Given the description of an element on the screen output the (x, y) to click on. 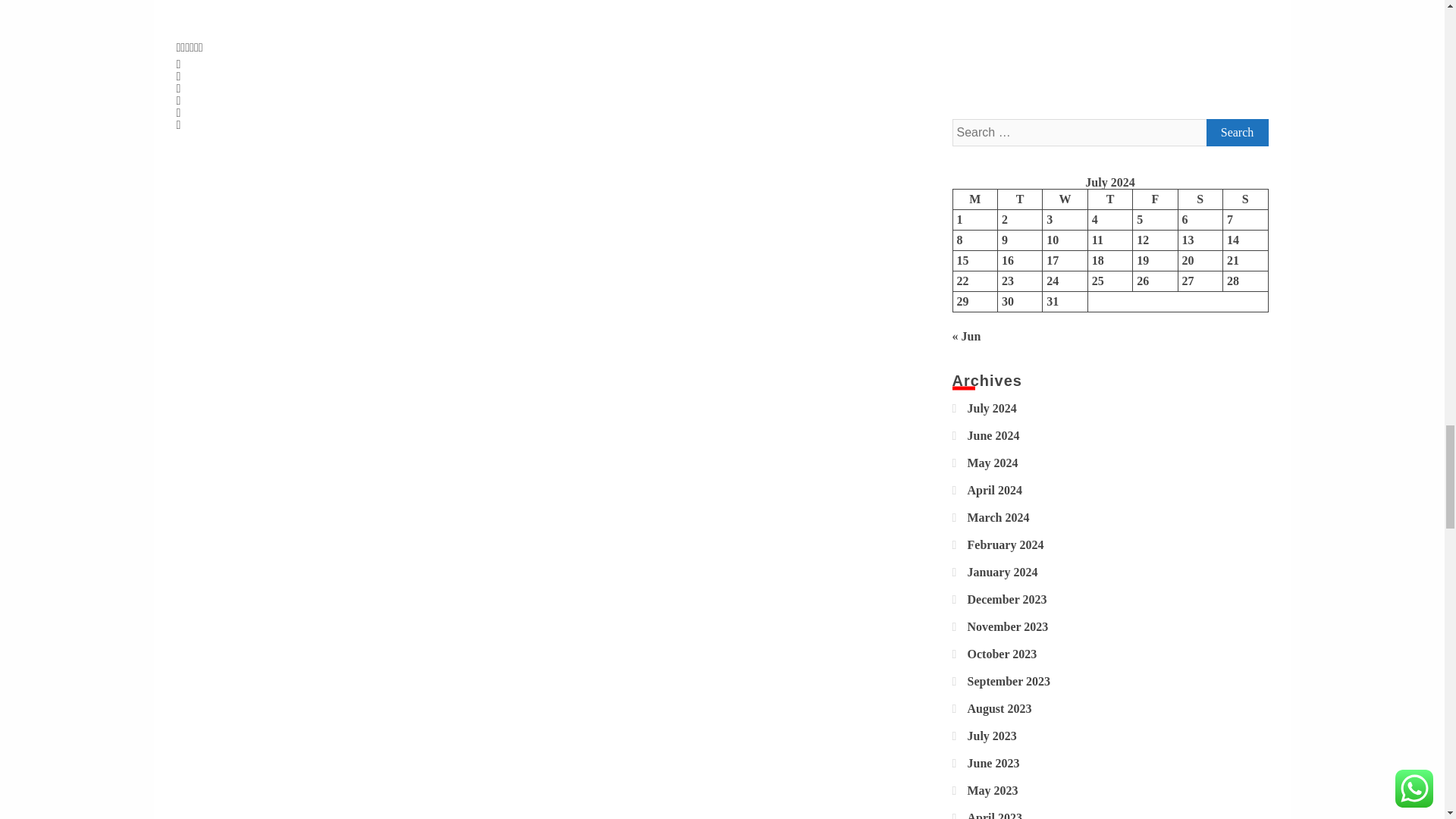
Search (1236, 132)
Search (1236, 132)
Friday (1154, 199)
Monday (974, 199)
Saturday (1200, 199)
Sunday (1245, 199)
Thursday (1109, 199)
Tuesday (1019, 199)
Wednesday (1064, 199)
